Given the description of an element on the screen output the (x, y) to click on. 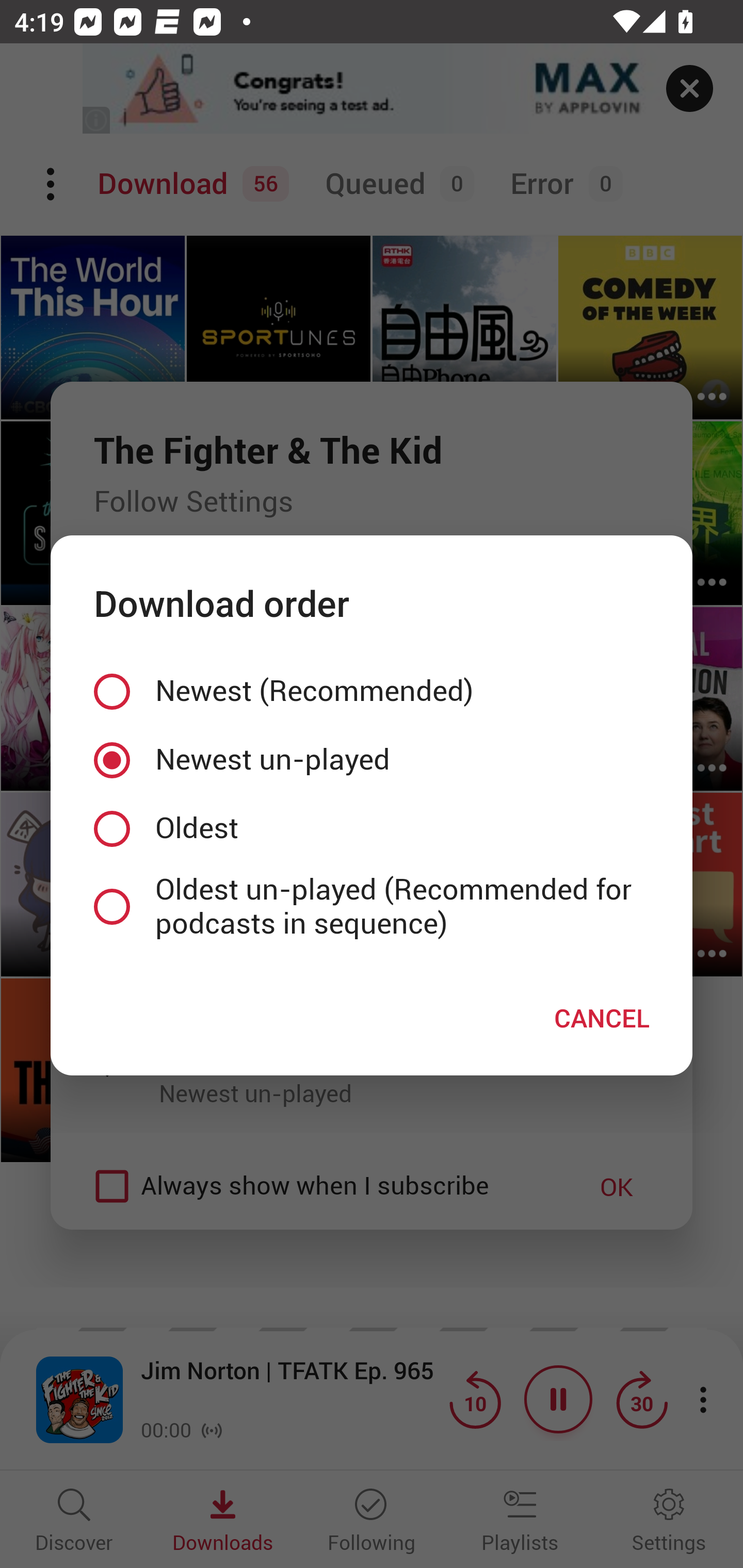
Newest (Recommended) (371, 692)
Newest un-played (371, 759)
Oldest (371, 828)
CANCEL (600, 1017)
